Given the description of an element on the screen output the (x, y) to click on. 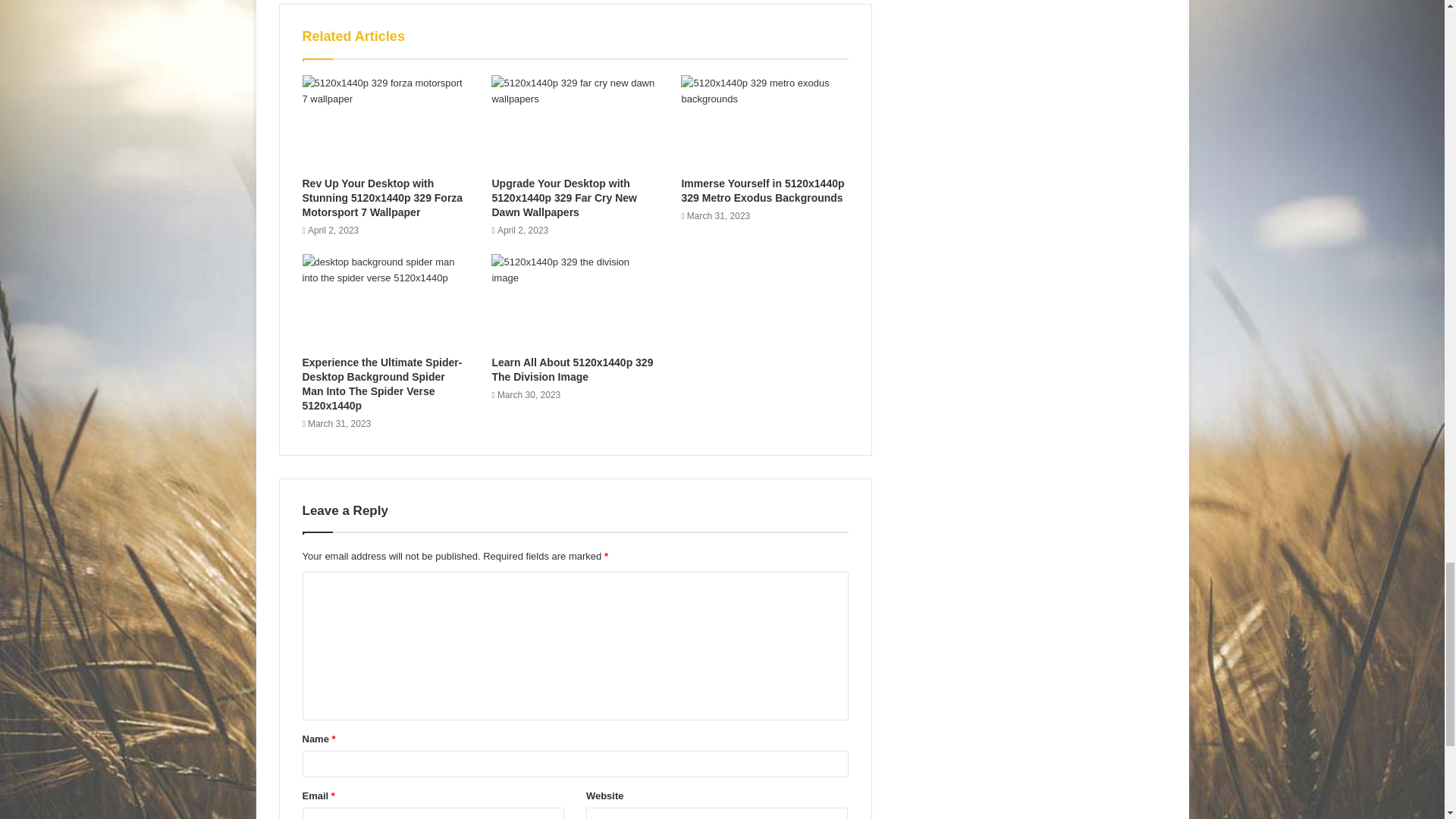
Immerse Yourself in 5120x1440p 329 Metro Exodus Backgrounds (762, 190)
